Given the description of an element on the screen output the (x, y) to click on. 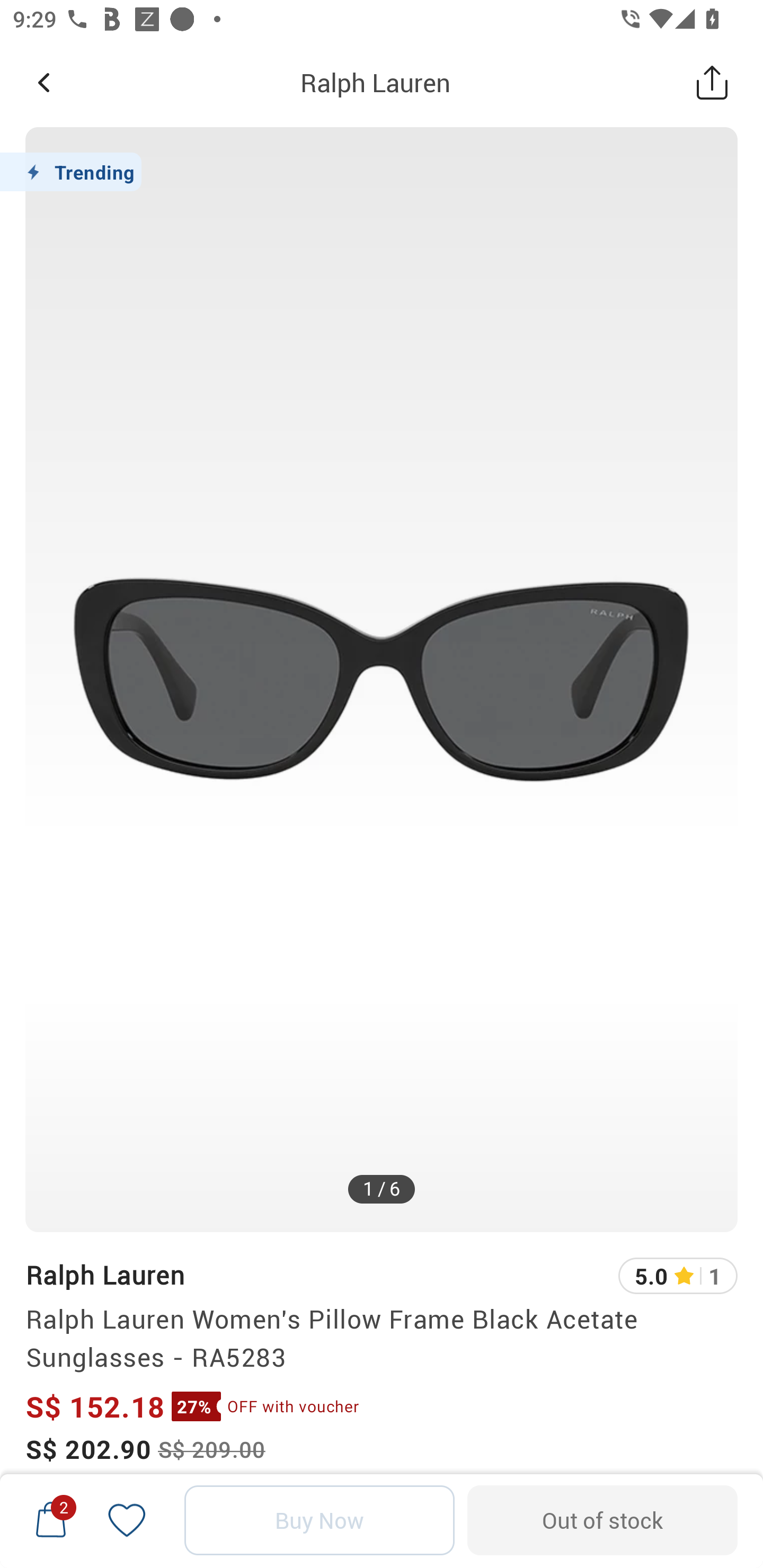
Ralph Lauren (375, 82)
Share this Product (711, 82)
Ralph Lauren (104, 1274)
5.0 1 (677, 1275)
Buy Now (319, 1519)
Out of stock (601, 1519)
2 (50, 1520)
